Given the description of an element on the screen output the (x, y) to click on. 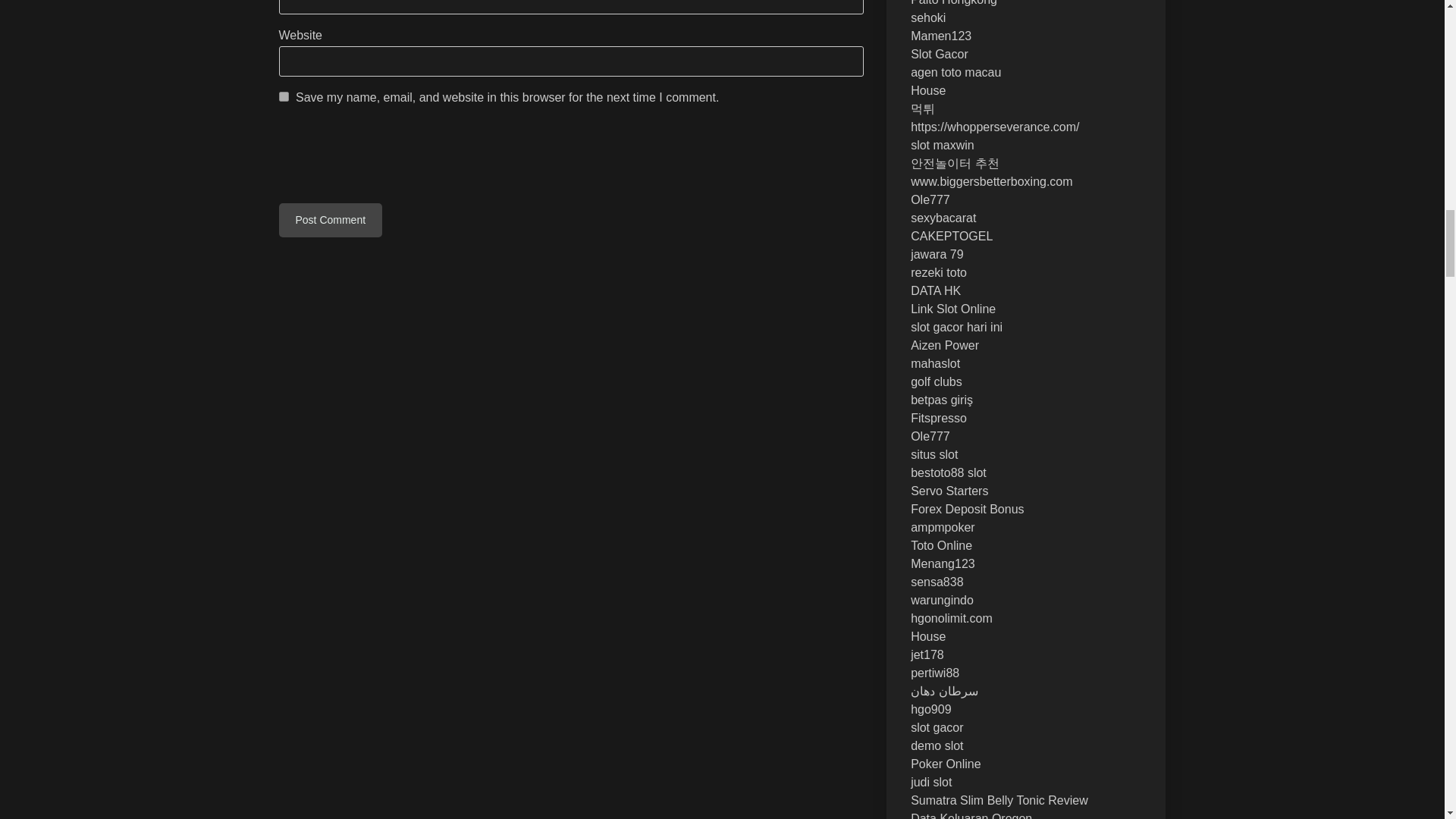
yes (283, 96)
Post Comment (330, 220)
Post Comment (330, 220)
reCAPTCHA (394, 156)
